Given the description of an element on the screen output the (x, y) to click on. 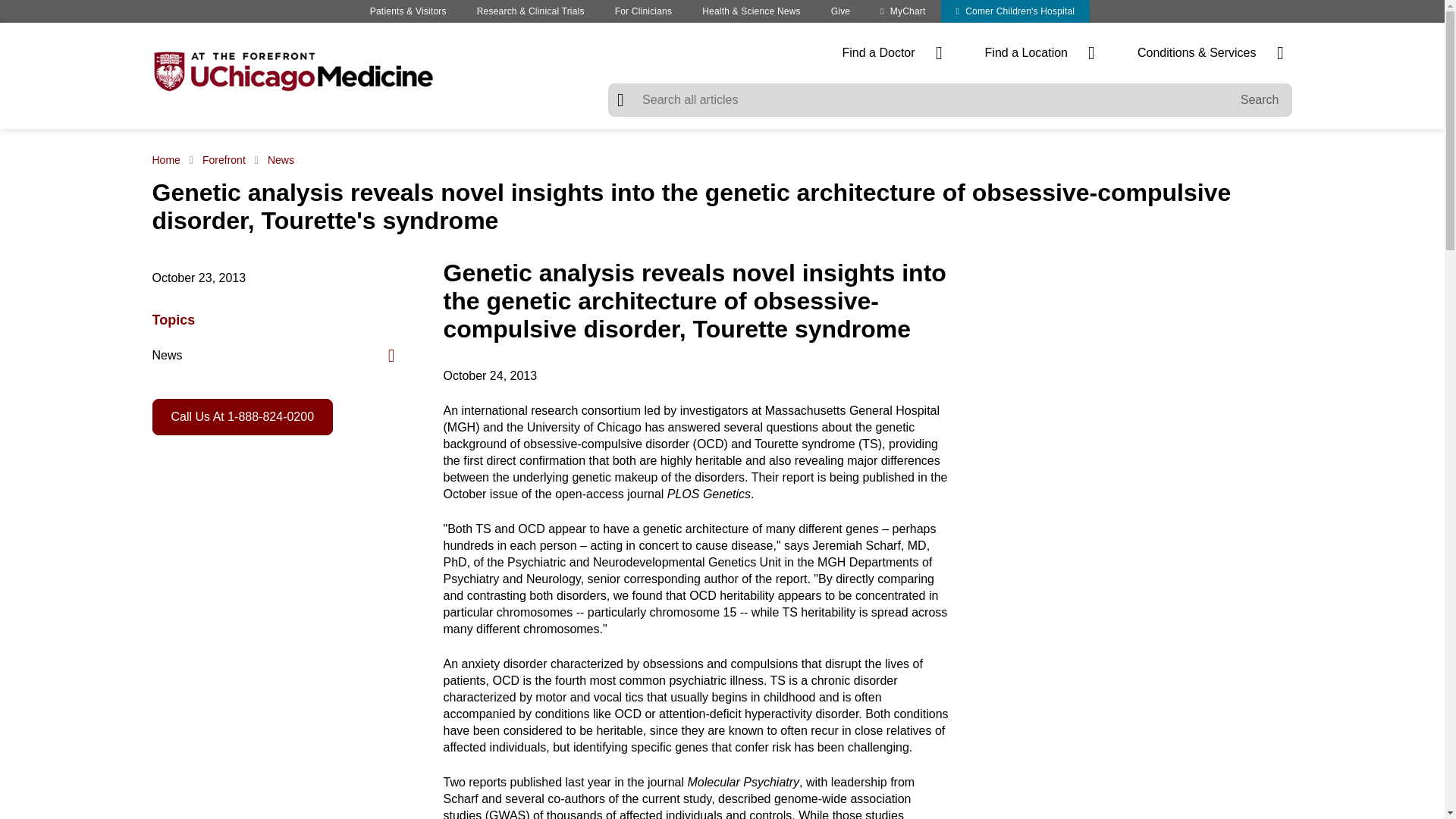
Find a Doctor (892, 53)
Find a Location (1039, 53)
News (280, 159)
Give (839, 11)
Search (1259, 100)
Home (167, 159)
News (272, 355)
Call Us At 1-888-824-0200 (242, 416)
Comer Children's Hospital (1015, 11)
Forefront (224, 159)
